Given the description of an element on the screen output the (x, y) to click on. 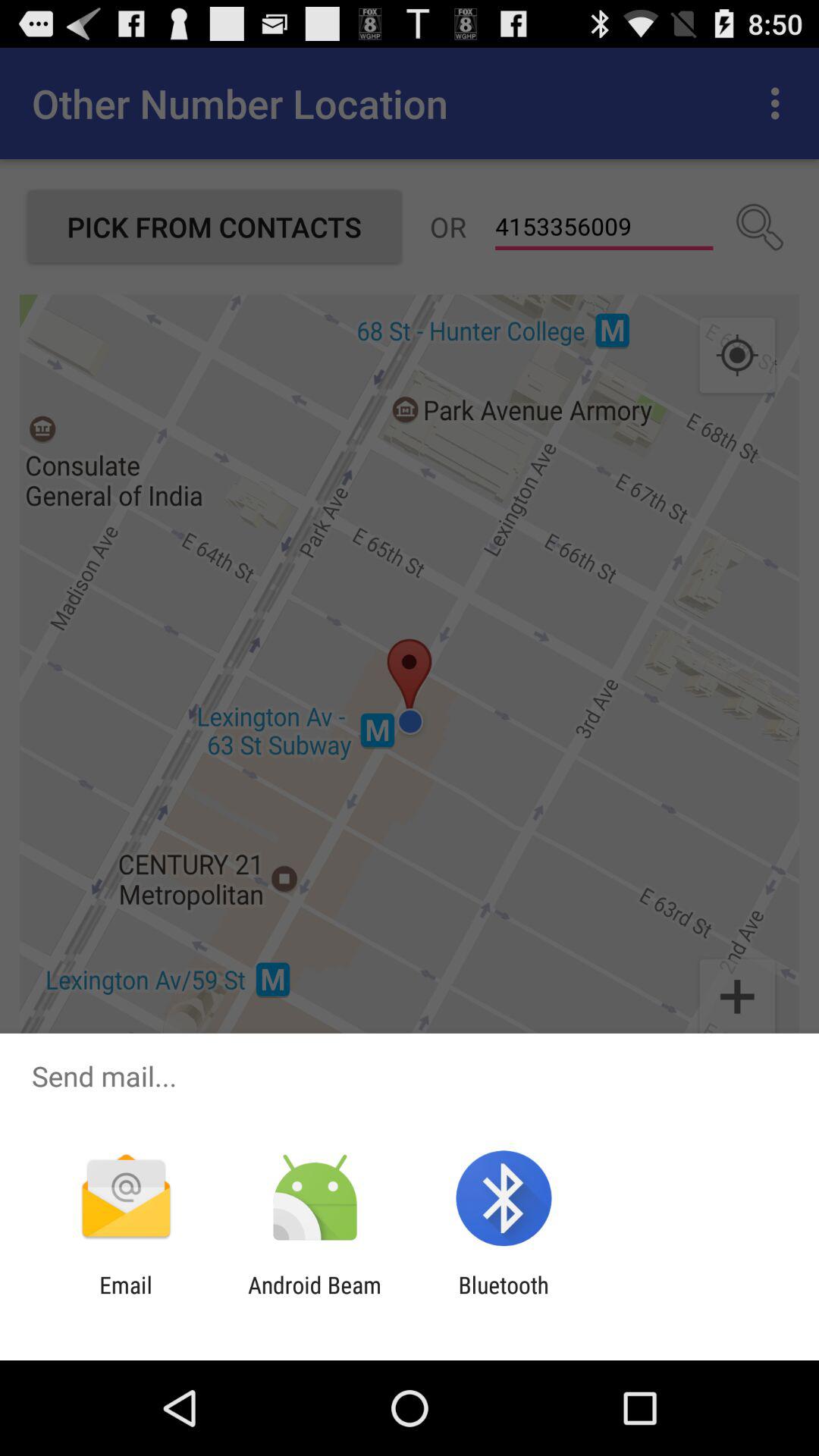
choose the bluetooth (503, 1298)
